Given the description of an element on the screen output the (x, y) to click on. 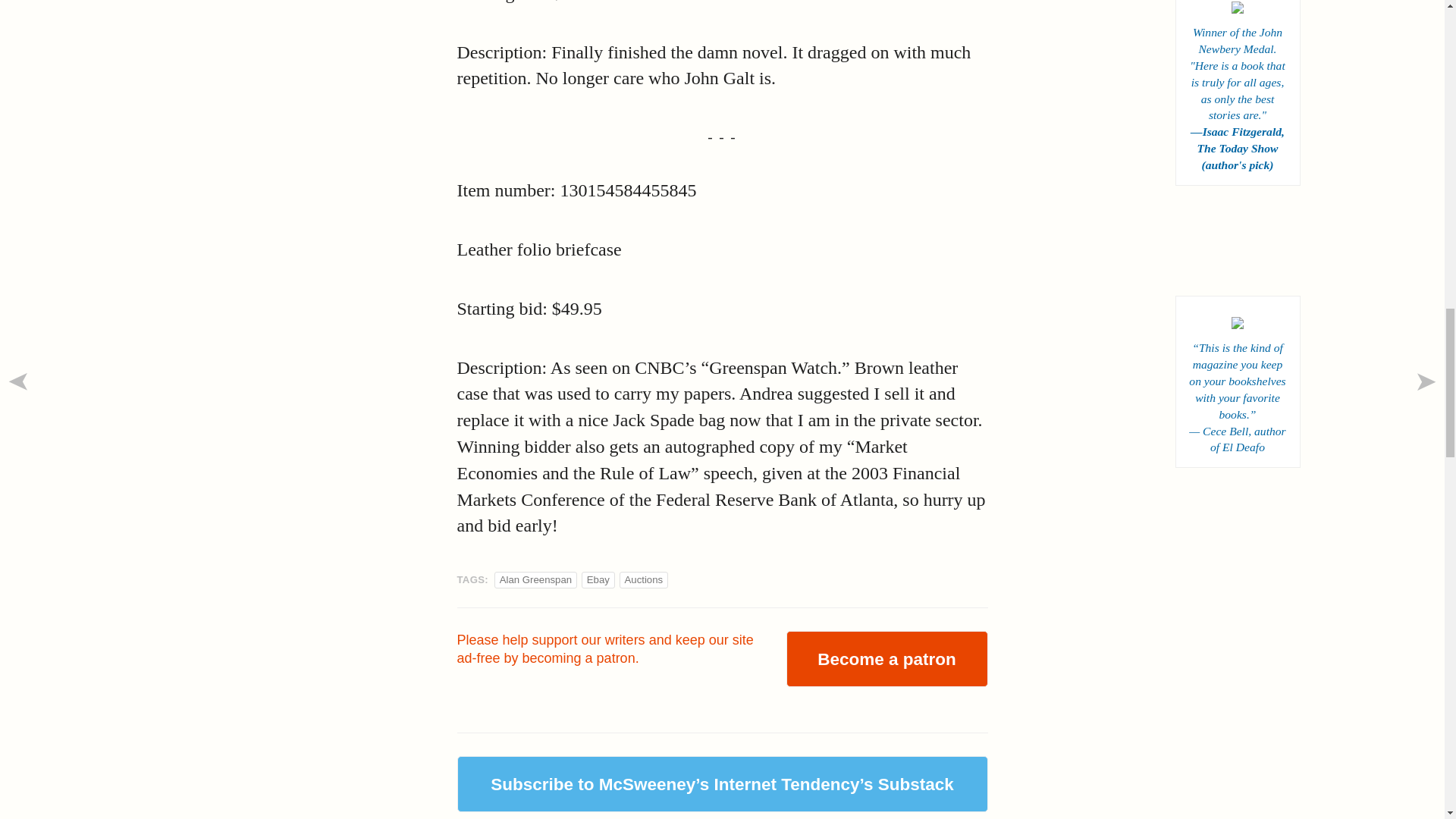
Alan Greenspan (535, 579)
Become a patron (886, 658)
Ebay (598, 579)
Auctions (643, 579)
